Given the description of an element on the screen output the (x, y) to click on. 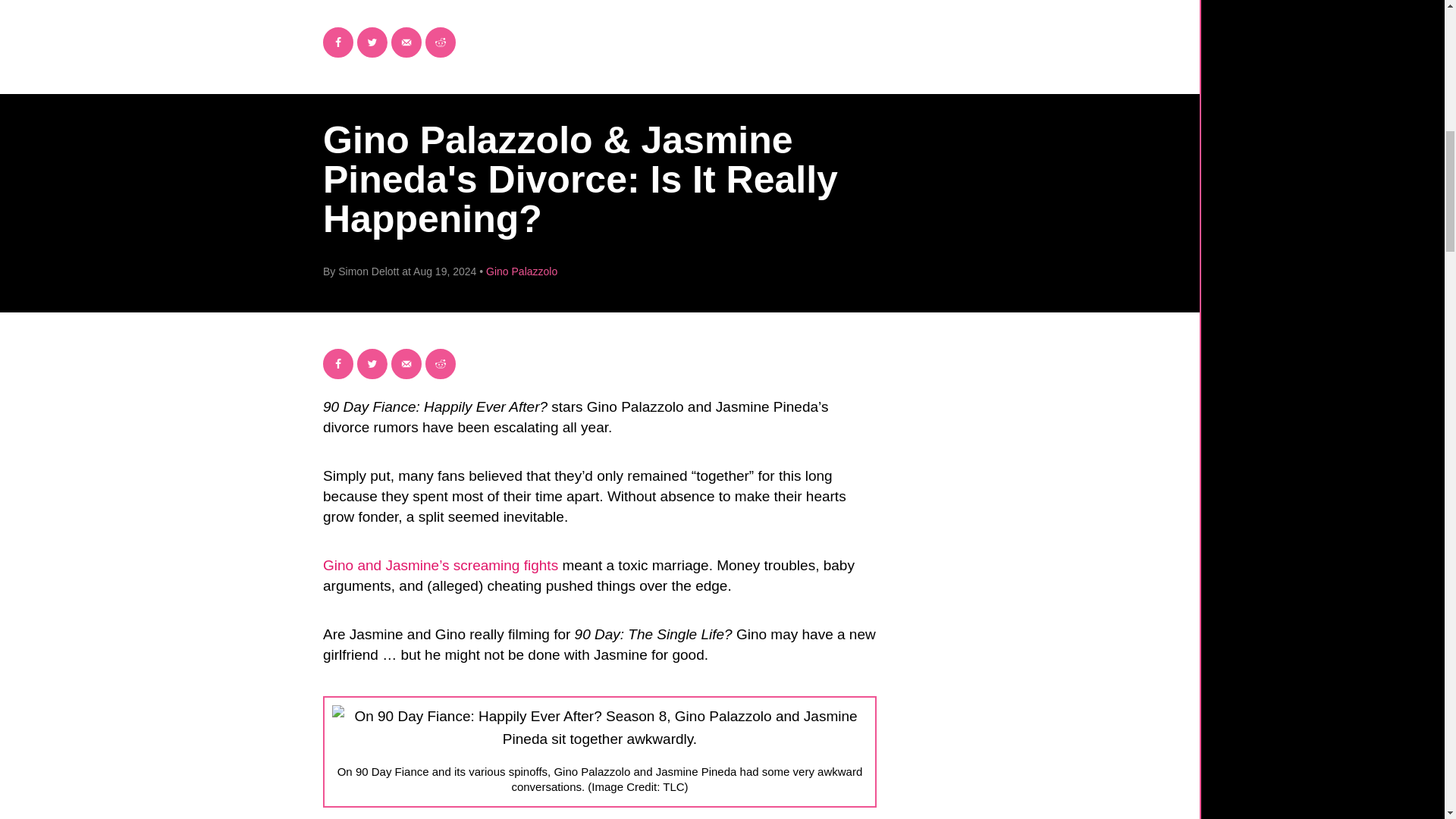
Send over email (406, 42)
Share on Facebook (338, 42)
Share on Reddit (440, 363)
Send over email (406, 363)
Share on Twitter (371, 42)
Share on Reddit (440, 42)
Share on Facebook (338, 363)
Share on Twitter (371, 363)
